Given the description of an element on the screen output the (x, y) to click on. 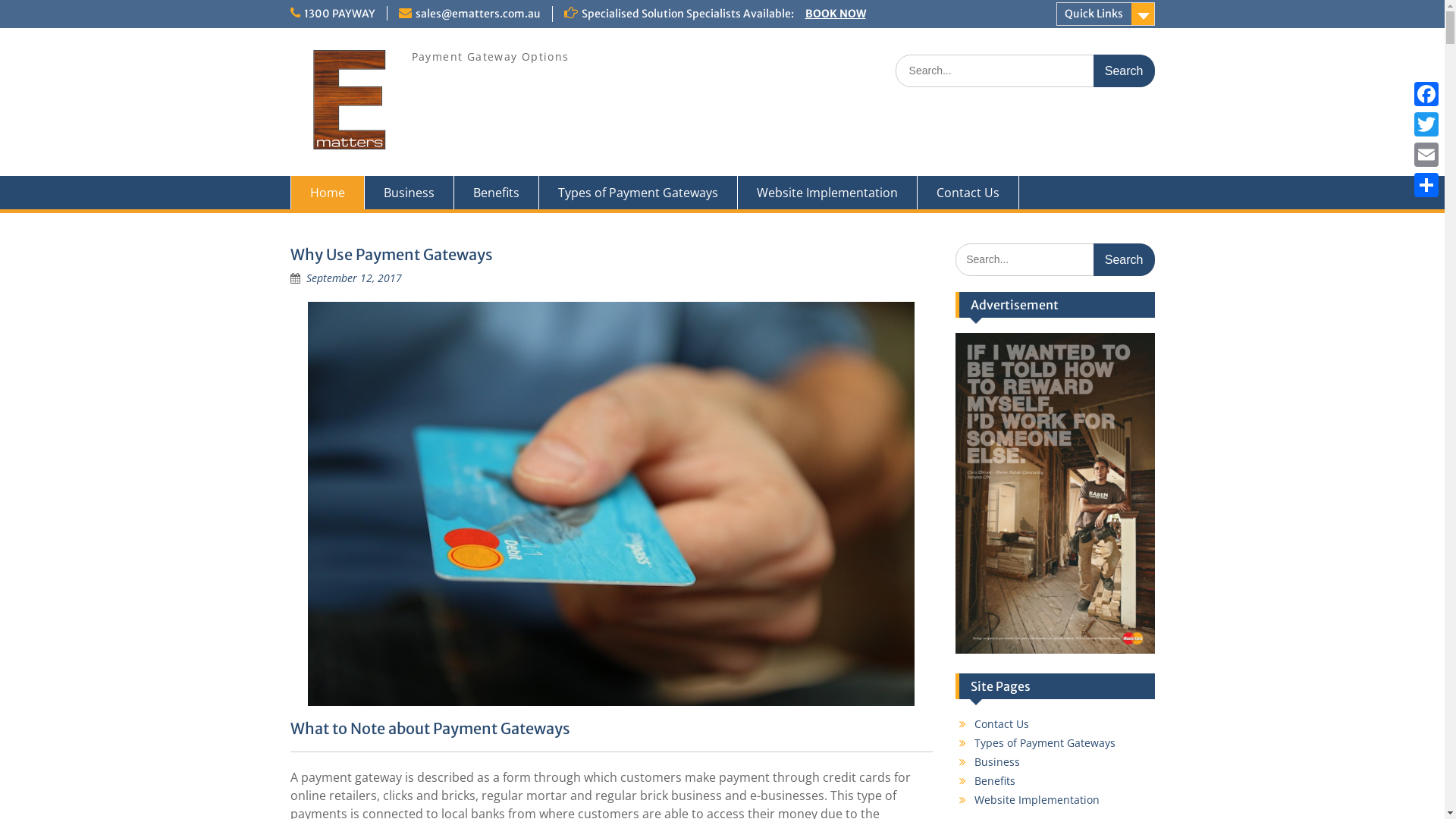
Email Element type: text (1426, 154)
Business Element type: text (996, 761)
Share Element type: text (1426, 184)
sales@ematters.com.au Element type: text (477, 13)
Search Element type: text (1123, 70)
Types of Payment Gateways Element type: text (1044, 742)
Why Use Payment Gateways Element type: text (390, 253)
Search Element type: text (1123, 259)
Twitter Element type: text (1426, 124)
Search for: Element type: hover (1054, 259)
Website Implementation Element type: text (1036, 799)
Contact Us Element type: text (968, 192)
Types of Payment Gateways Element type: text (637, 192)
Quick Links Element type: text (1104, 13)
Benefits Element type: text (994, 780)
Website Implementation Element type: text (826, 192)
September 12, 2017 Element type: text (353, 277)
Benefits Element type: text (495, 192)
Facebook Element type: text (1426, 93)
Contact Us Element type: text (1001, 723)
1300 PAYWAY Element type: text (338, 13)
Home Element type: text (326, 192)
Business Element type: text (408, 192)
Search for: Element type: hover (1024, 70)
BOOK NOW Element type: text (835, 13)
